Given the description of an element on the screen output the (x, y) to click on. 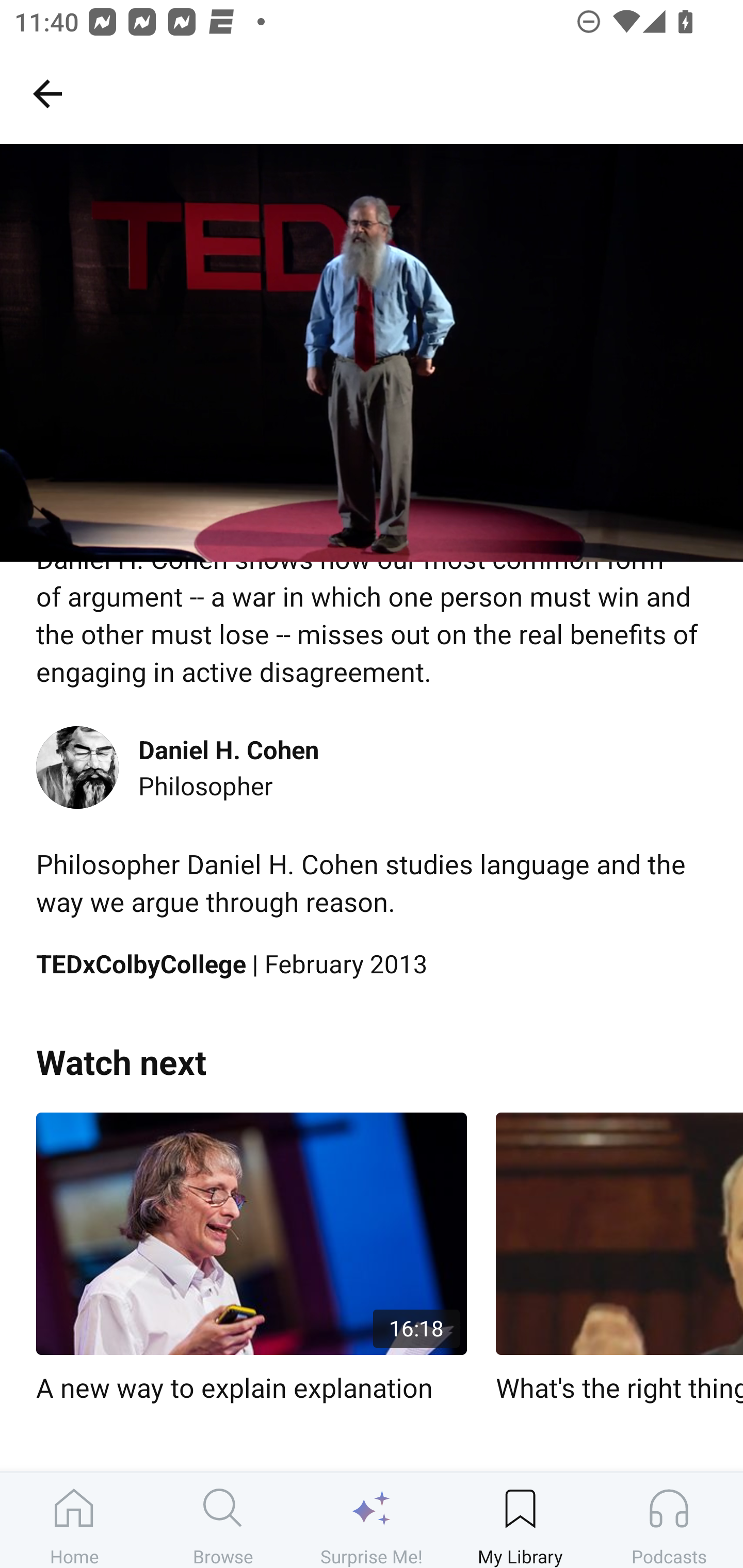
My Library, back (47, 92)
16:18 A new way to explain explanation (251, 1258)
Home (74, 1520)
Browse (222, 1520)
Surprise Me! (371, 1520)
My Library (519, 1520)
Podcasts (668, 1520)
